Given the description of an element on the screen output the (x, y) to click on. 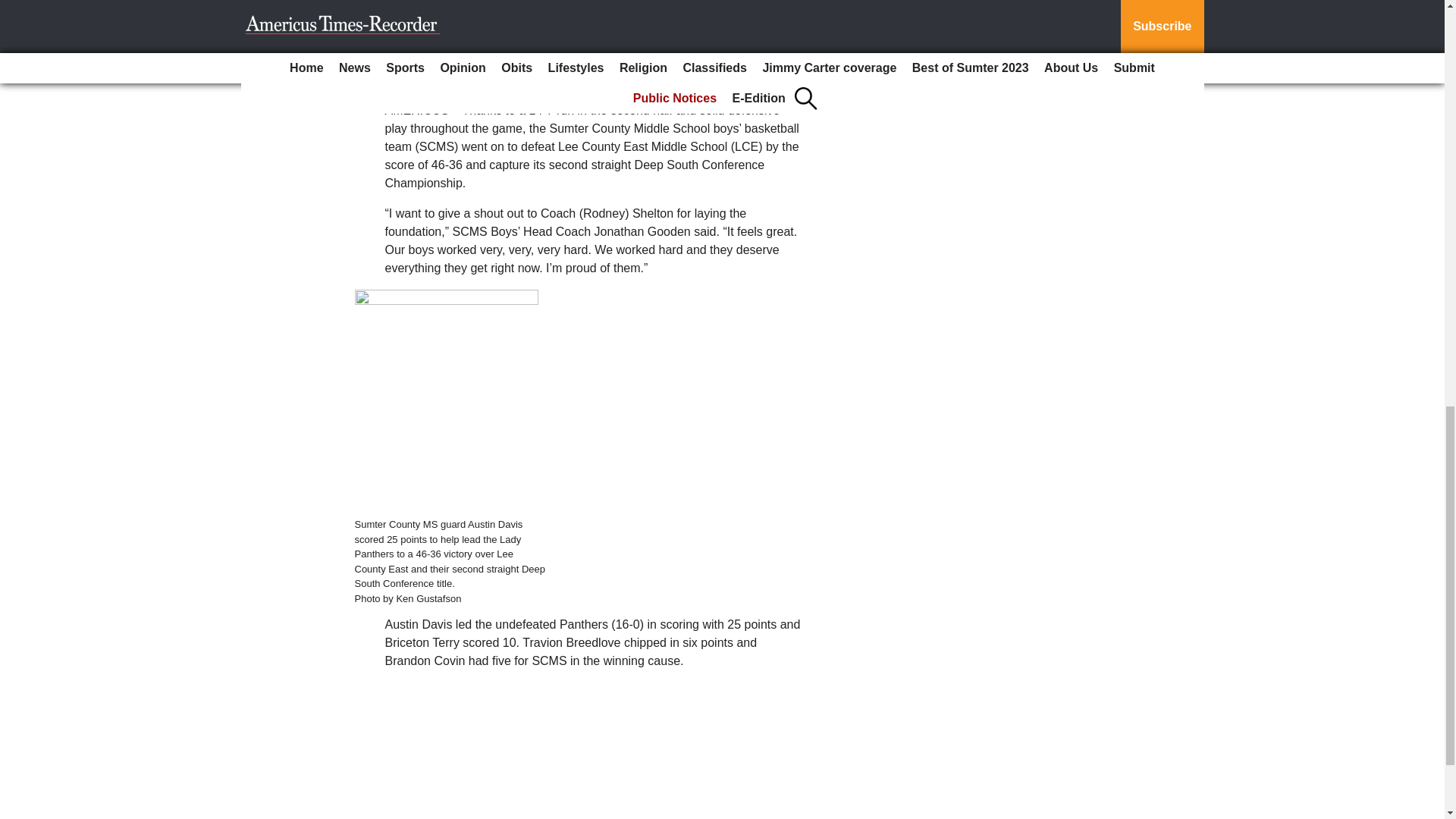
Trinity Audio (497, 36)
